Given the description of an element on the screen output the (x, y) to click on. 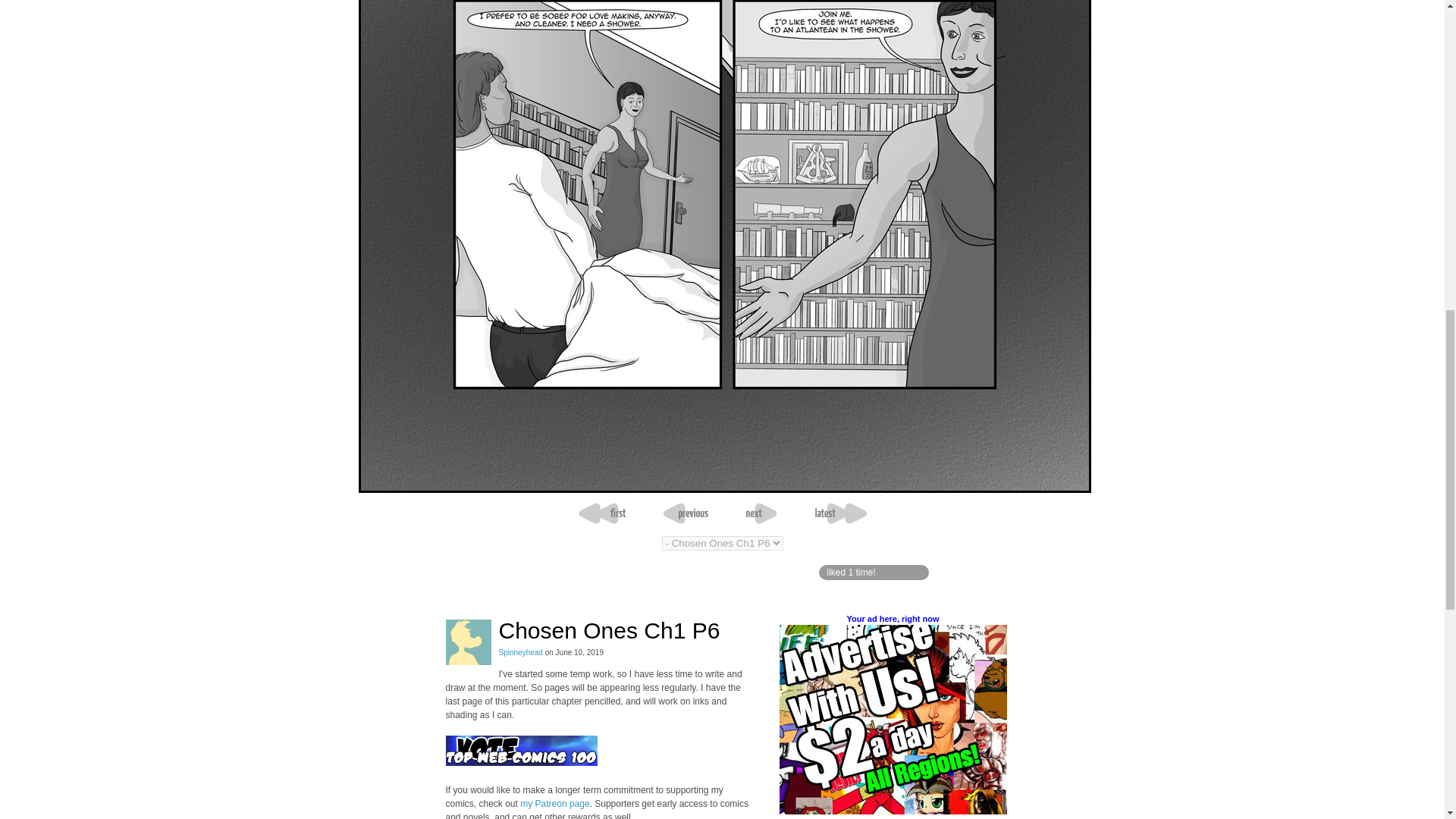
my Patreon page (554, 803)
Your ad here, right now (892, 618)
Spinneyhead (521, 652)
